Given the description of an element on the screen output the (x, y) to click on. 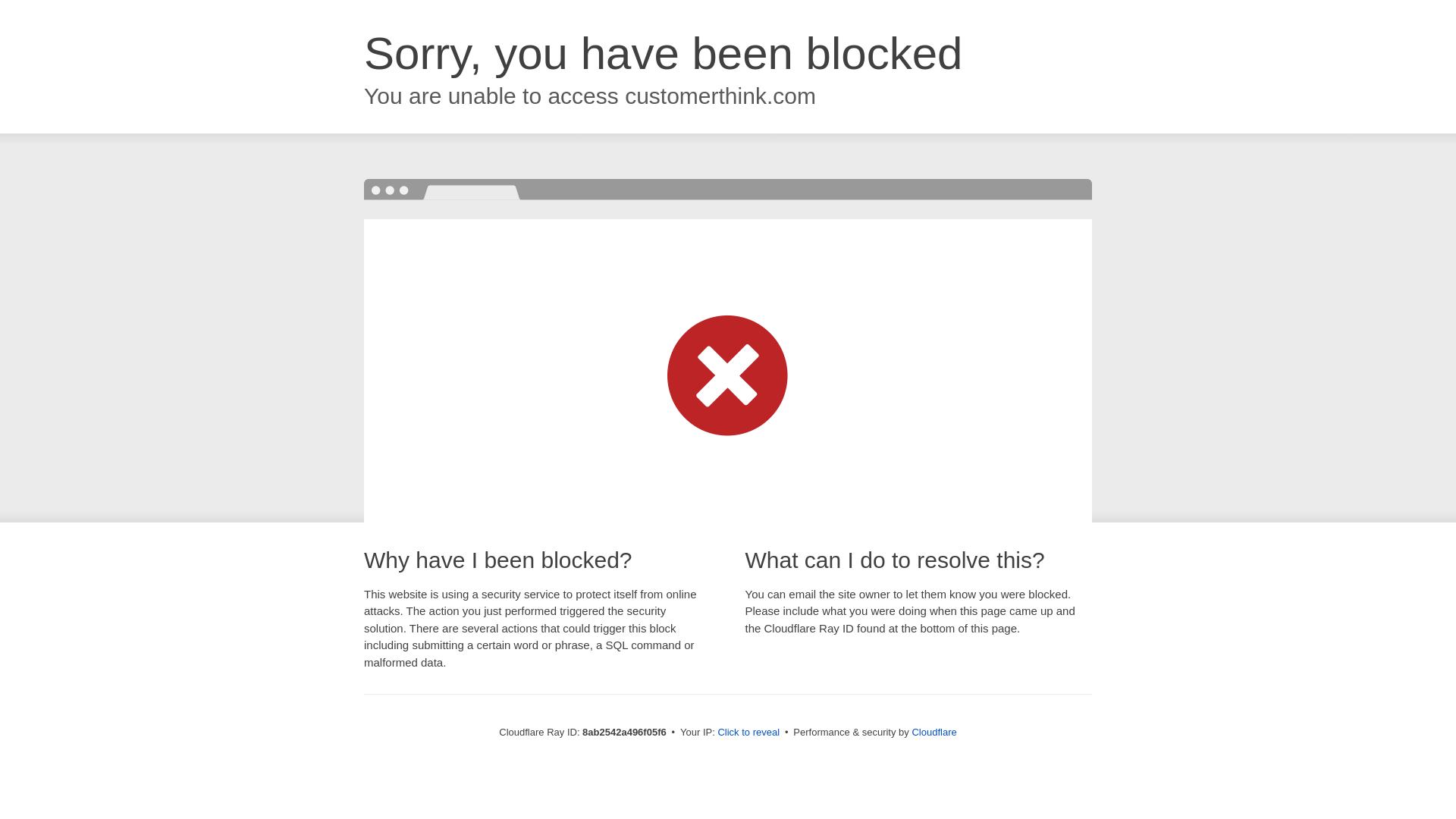
Click to reveal (747, 732)
Cloudflare (933, 731)
